Given the description of an element on the screen output the (x, y) to click on. 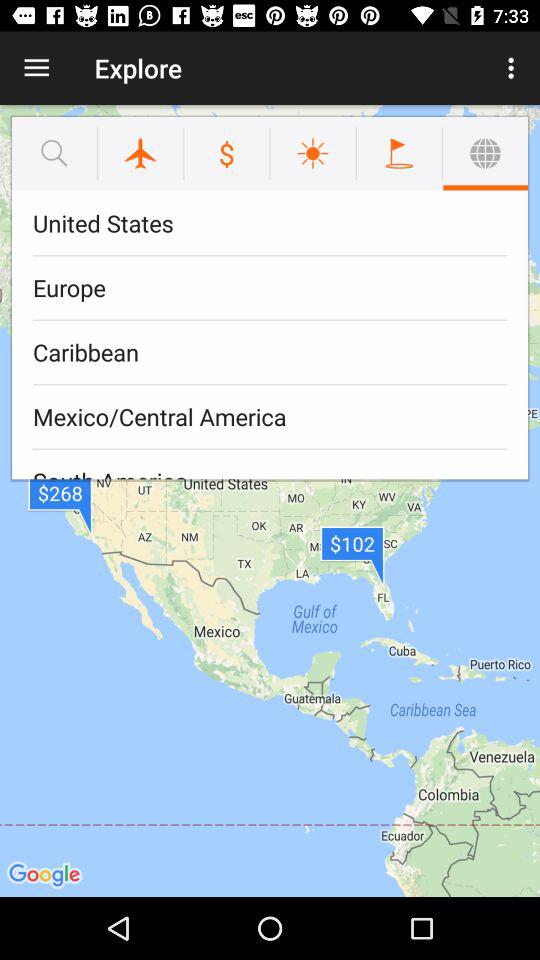
choose the icon to the right of explore (513, 67)
